Given the description of an element on the screen output the (x, y) to click on. 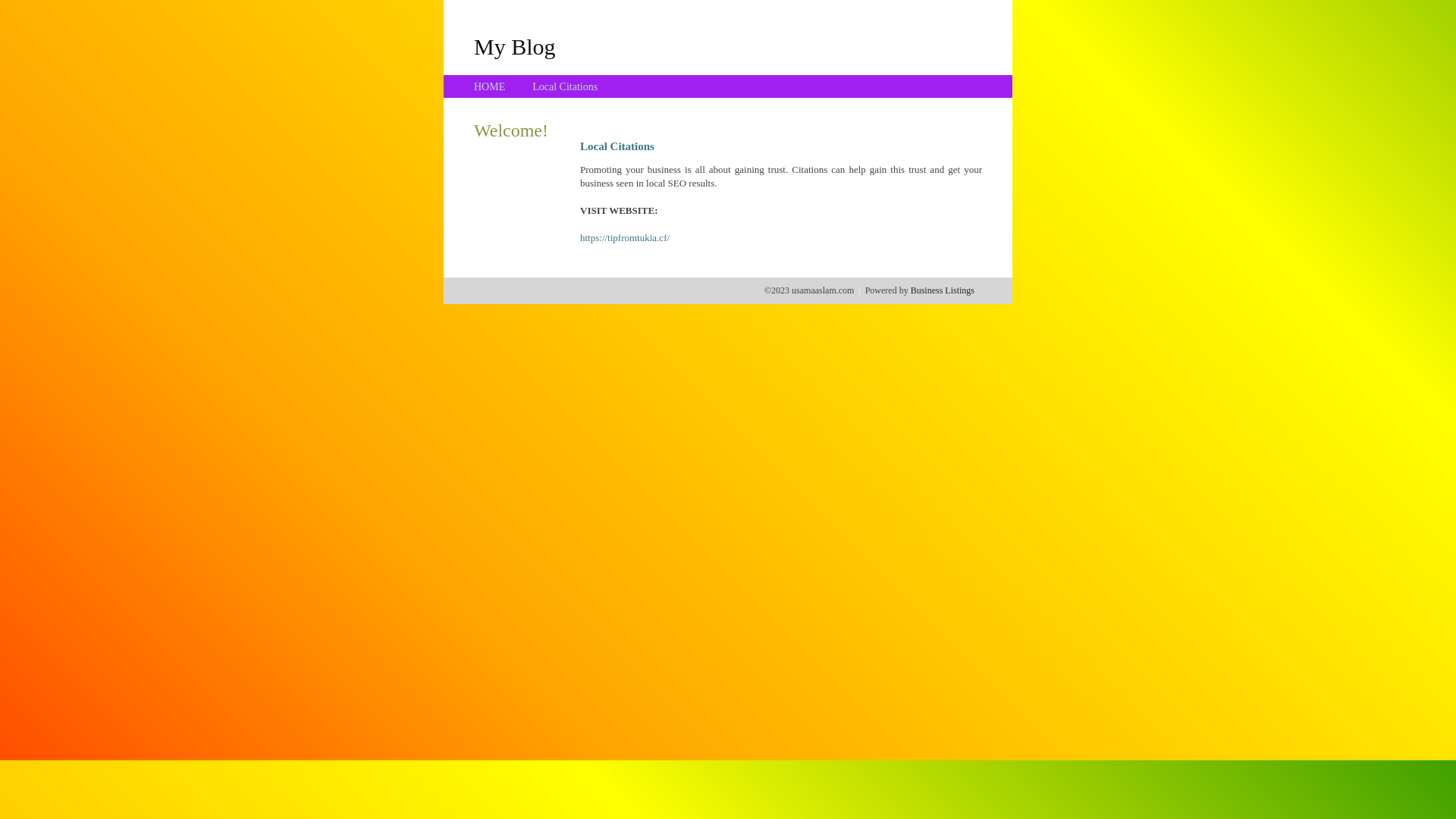
Business Listings Element type: text (942, 290)
Local Citations Element type: text (564, 86)
HOME Element type: text (489, 86)
https://tipfromtukia.cf/ Element type: text (624, 237)
My Blog Element type: text (514, 46)
